Given the description of an element on the screen output the (x, y) to click on. 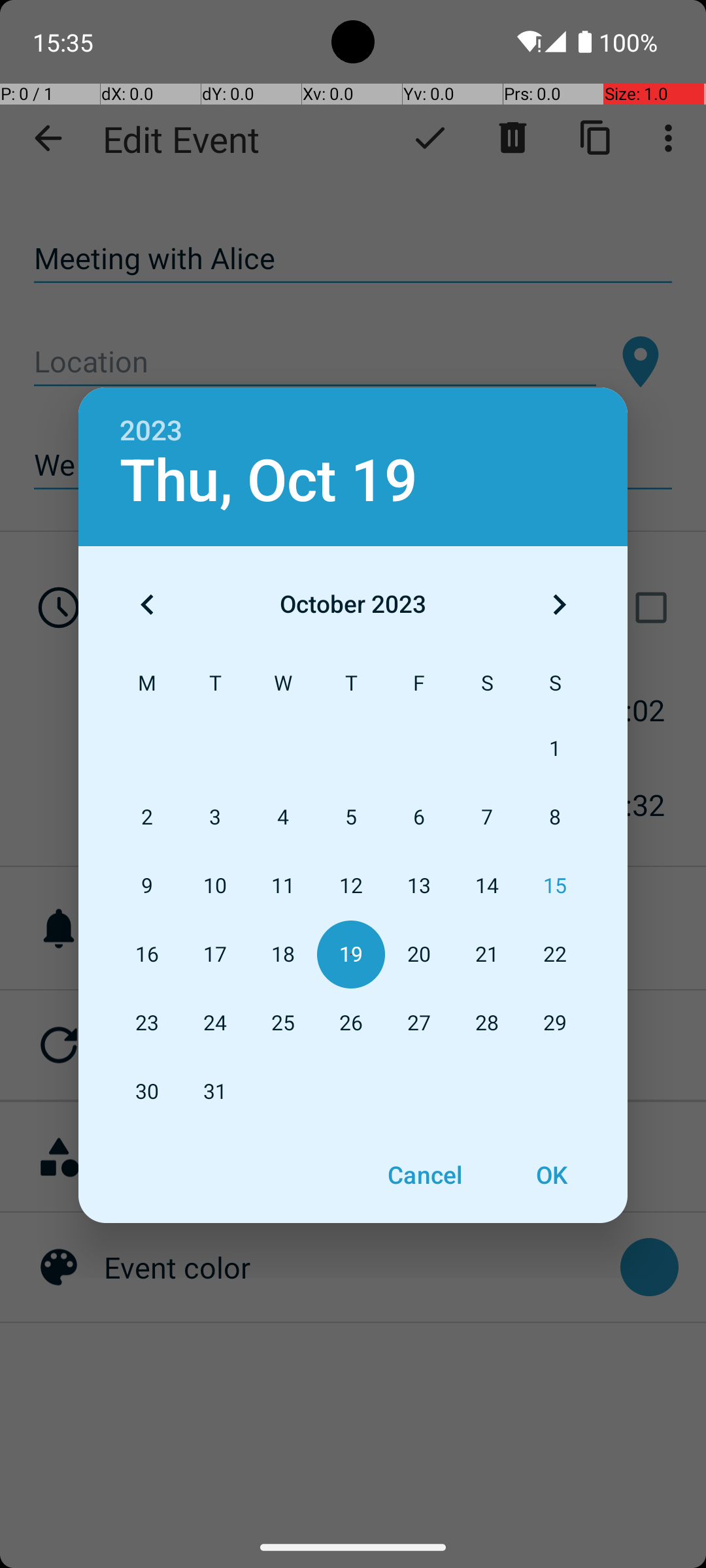
Thu, Oct 19 Element type: android.widget.TextView (268, 480)
